Given the description of an element on the screen output the (x, y) to click on. 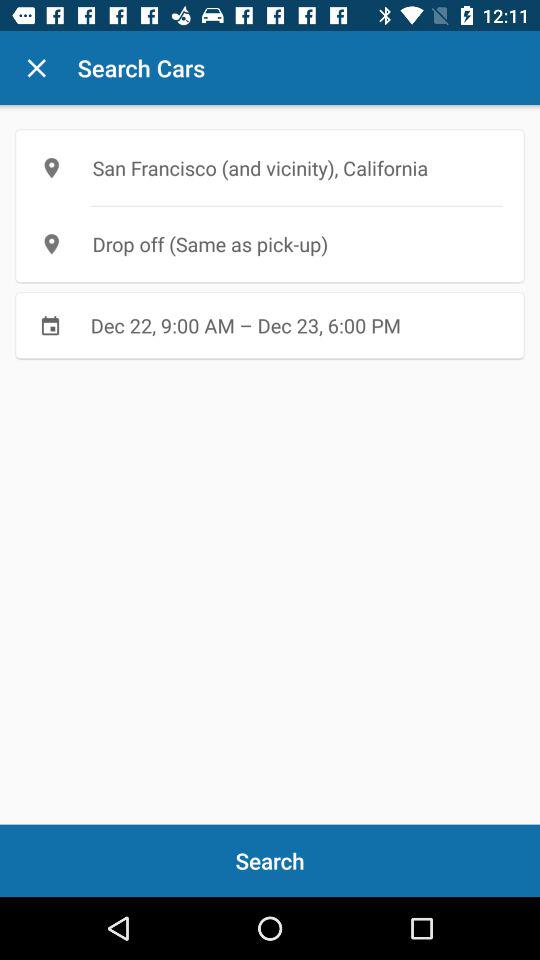
open the icon above dec 22 9 item (269, 244)
